Given the description of an element on the screen output the (x, y) to click on. 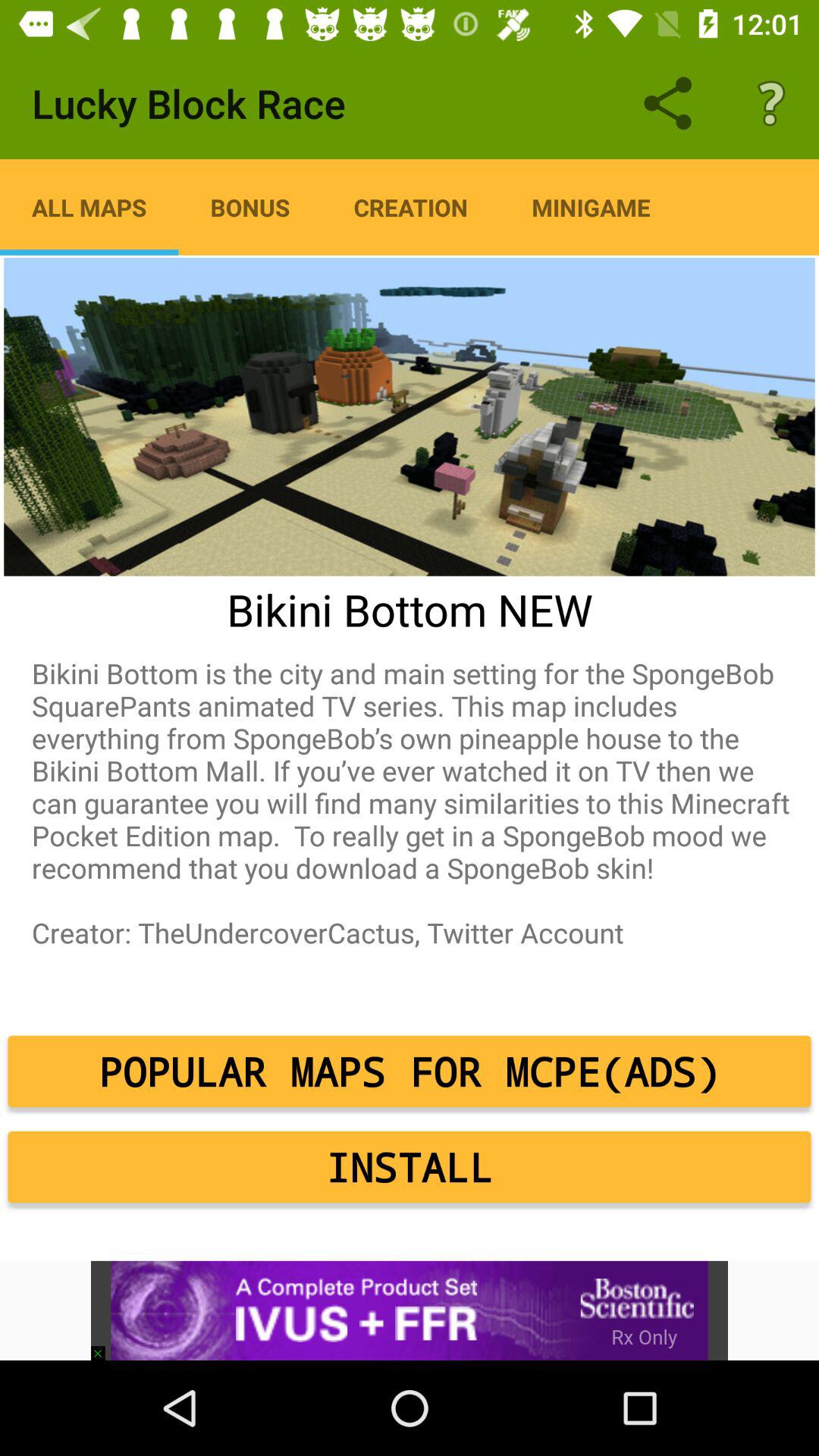
open the icon next to bonus app (89, 207)
